Given the description of an element on the screen output the (x, y) to click on. 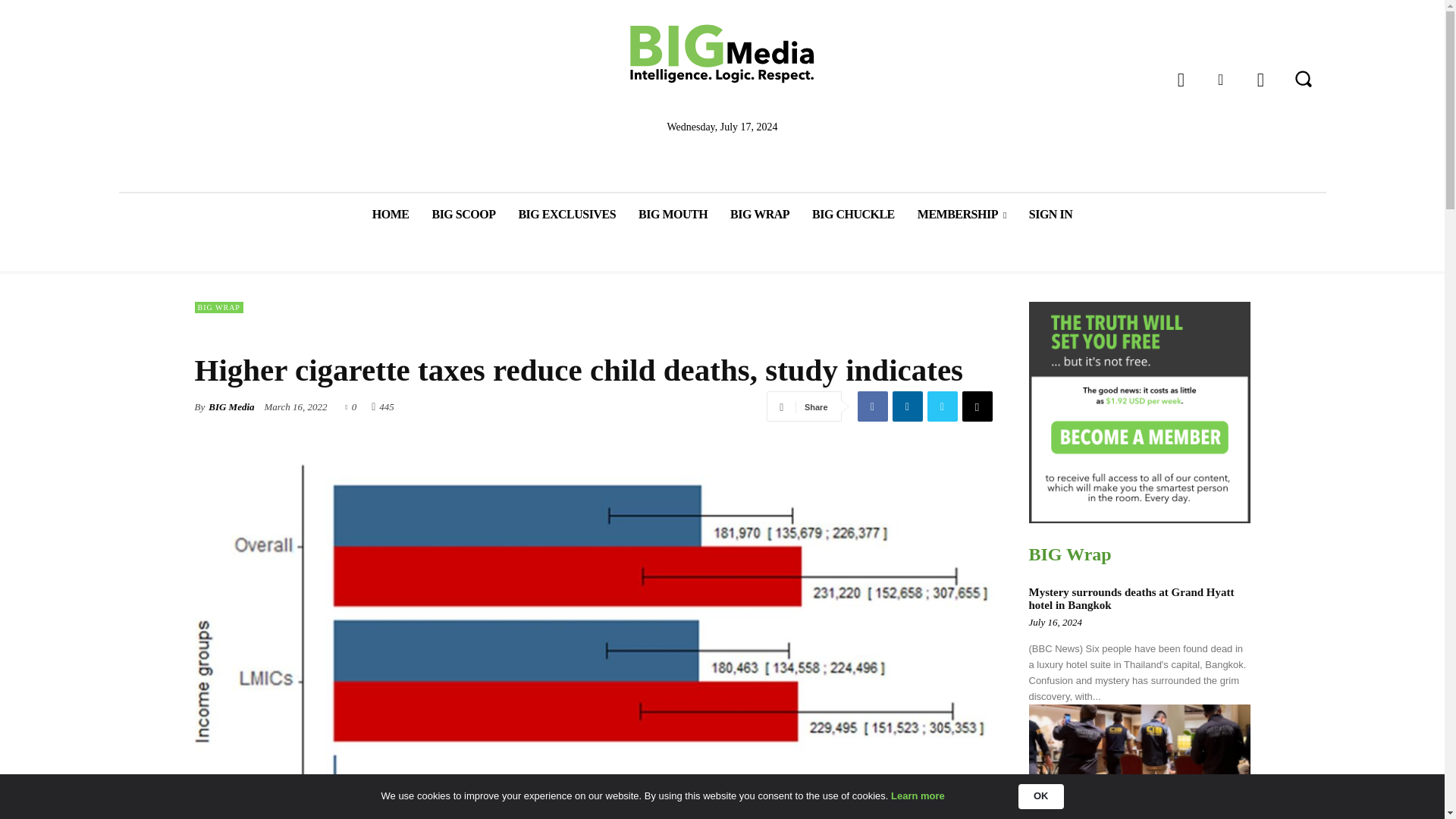
Linkedin (906, 406)
Twitter (941, 406)
Facebook (871, 406)
BIG SCOOP (463, 214)
SIGN IN (1050, 214)
BIG EXCLUSIVES (566, 214)
BIG WRAP (759, 214)
Facebook (1180, 79)
Linkedin (1220, 79)
BIG CHUCKLE (852, 214)
Email (975, 406)
BIG MOUTH (673, 214)
Twitter (1260, 79)
HOME (390, 214)
